Given the description of an element on the screen output the (x, y) to click on. 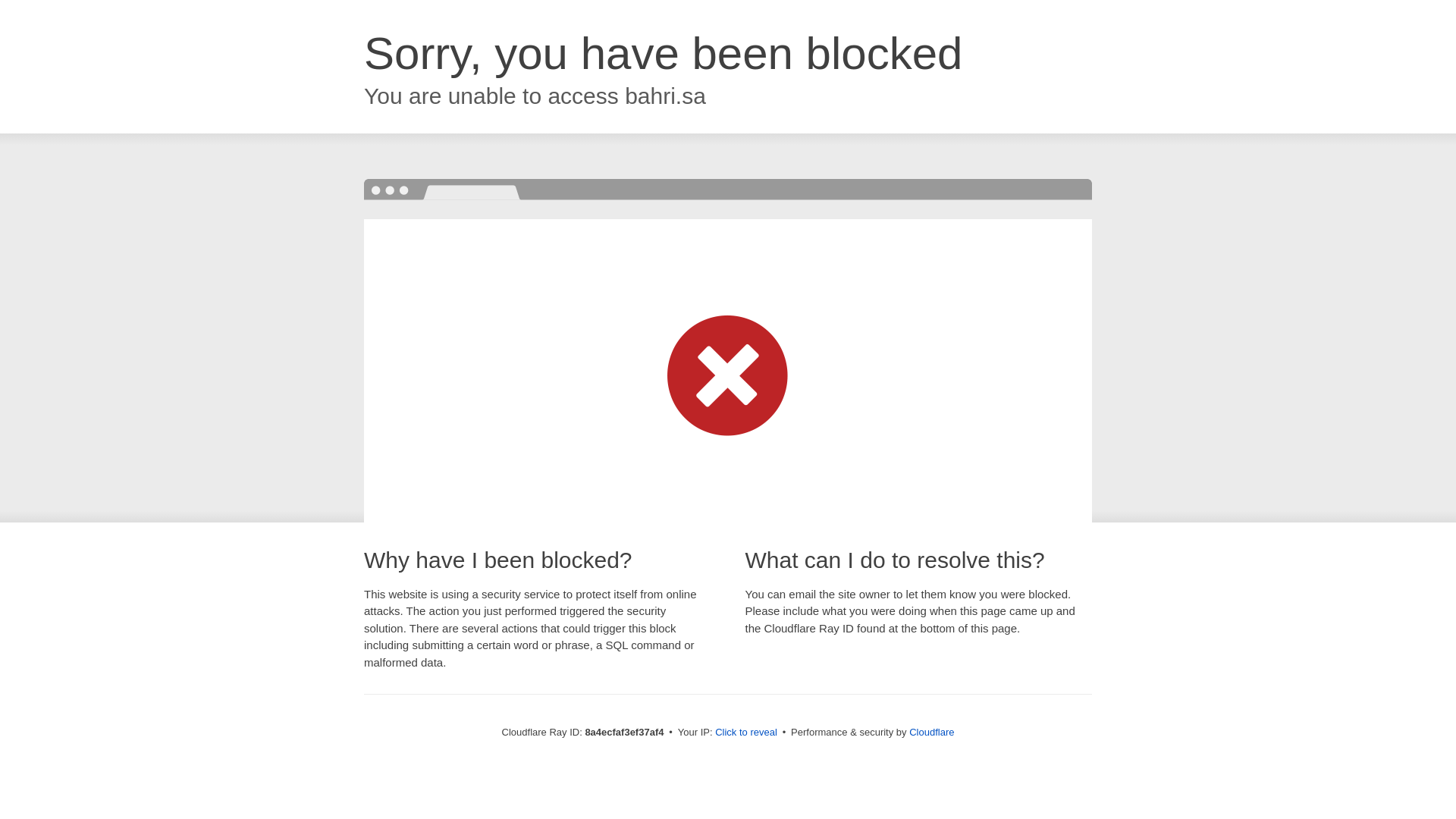
Click to reveal (745, 732)
Cloudflare (930, 731)
